Given the description of an element on the screen output the (x, y) to click on. 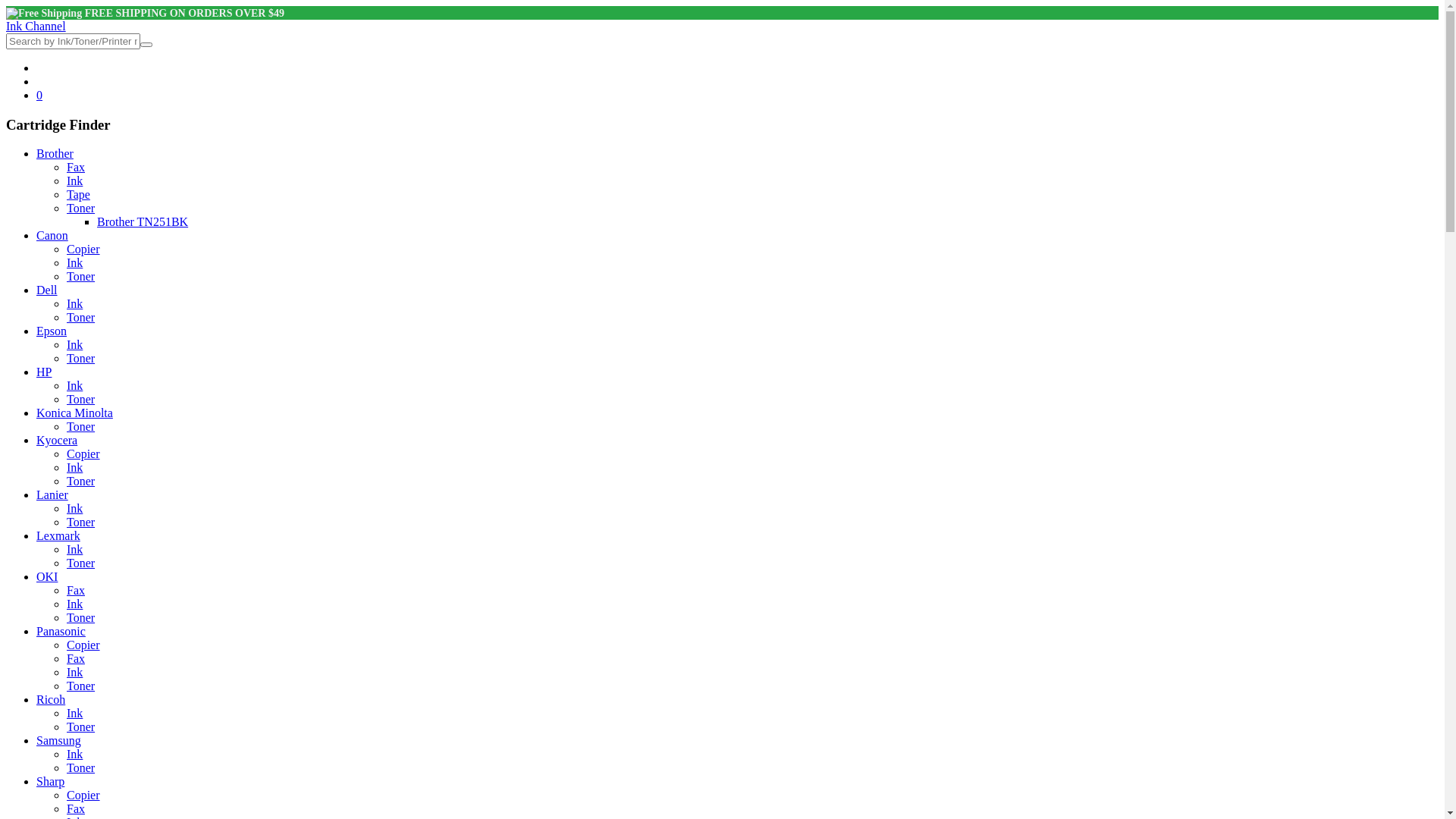
Fax Element type: text (75, 589)
Ink Element type: text (74, 303)
Toner Element type: text (80, 726)
Tape Element type: text (78, 194)
Ink Element type: text (74, 467)
Toner Element type: text (80, 426)
HP Element type: text (43, 371)
Ricoh Element type: text (50, 699)
Epson Element type: text (51, 330)
Dell Element type: text (46, 289)
0 Element type: text (39, 94)
Samsung Element type: text (58, 740)
Panasonic Element type: text (60, 630)
Lanier Element type: text (52, 494)
Toner Element type: text (80, 521)
Toner Element type: text (80, 207)
Ink Element type: text (74, 508)
Ink Element type: text (74, 385)
Fax Element type: text (75, 658)
Copier Element type: text (83, 644)
Copier Element type: text (83, 453)
Toner Element type: text (80, 398)
Ink Element type: text (74, 180)
Ink Element type: text (74, 753)
Konica Minolta Element type: text (74, 412)
Ink Element type: text (74, 712)
Fax Element type: text (75, 166)
Ink Element type: text (74, 344)
Copier Element type: text (83, 248)
Toner Element type: text (80, 767)
Fax Element type: text (75, 808)
Sharp Element type: text (50, 781)
Toner Element type: text (80, 685)
Toner Element type: text (80, 617)
OKI Element type: text (46, 576)
Ink Element type: text (74, 671)
Canon Element type: text (52, 235)
Ink Element type: text (74, 603)
Toner Element type: text (80, 562)
Ink Element type: text (74, 262)
Search Element type: hover (146, 44)
Copier Element type: text (83, 794)
Toner Element type: text (80, 275)
Kyocera Element type: text (56, 439)
Brother Element type: text (54, 153)
Toner Element type: text (80, 357)
Ink Channel Element type: text (35, 25)
Toner Element type: text (80, 480)
Lexmark Element type: text (58, 535)
Brother TN251BK Element type: text (142, 221)
Toner Element type: text (80, 316)
Ink Element type: text (74, 548)
Free Shipping Element type: hover (43, 13)
